Given the description of an element on the screen output the (x, y) to click on. 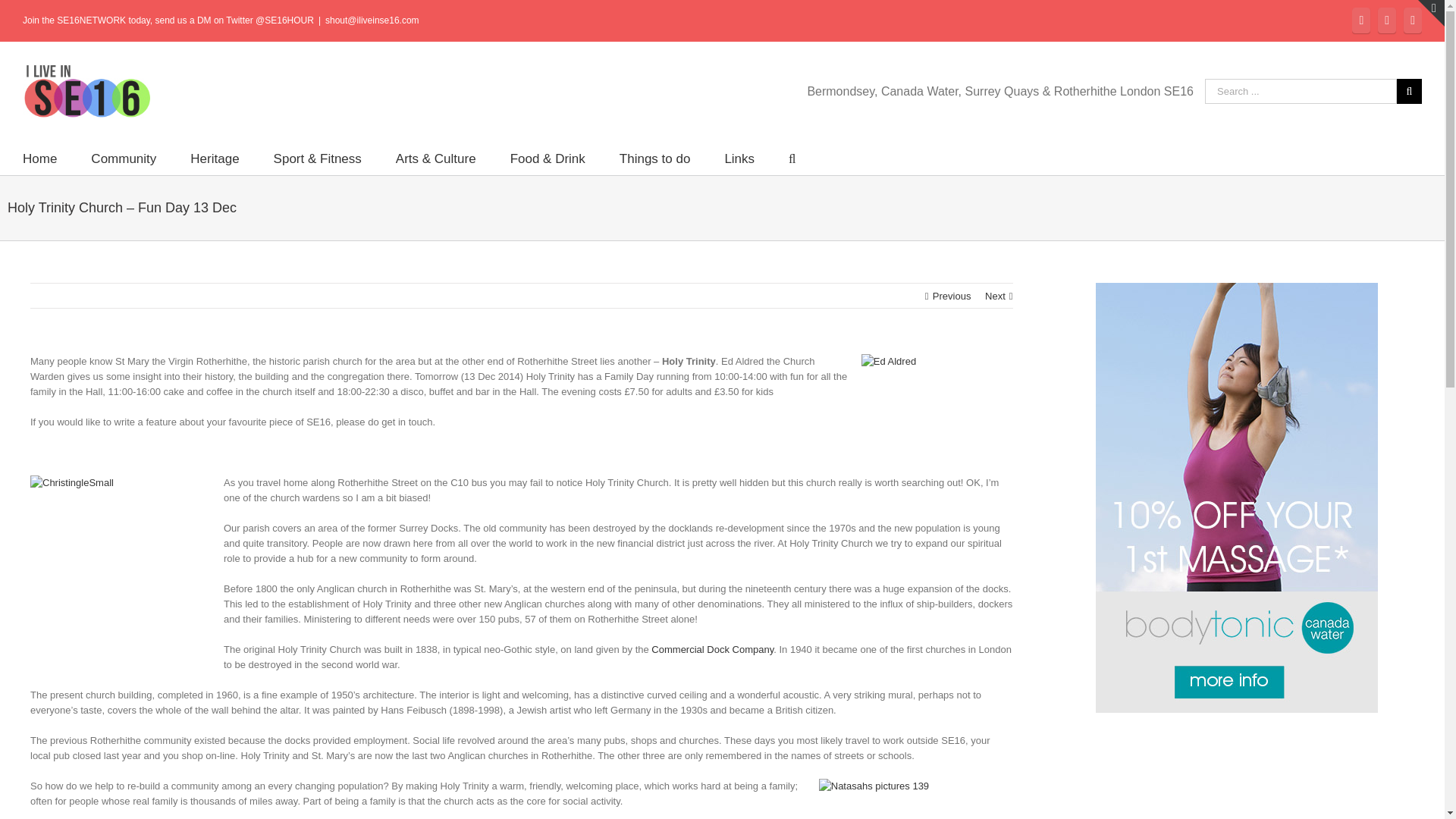
Home (39, 157)
Links (738, 157)
Commercial Dock Company (711, 649)
Things to do (655, 157)
Heritage (214, 157)
Community (122, 157)
